Given the description of an element on the screen output the (x, y) to click on. 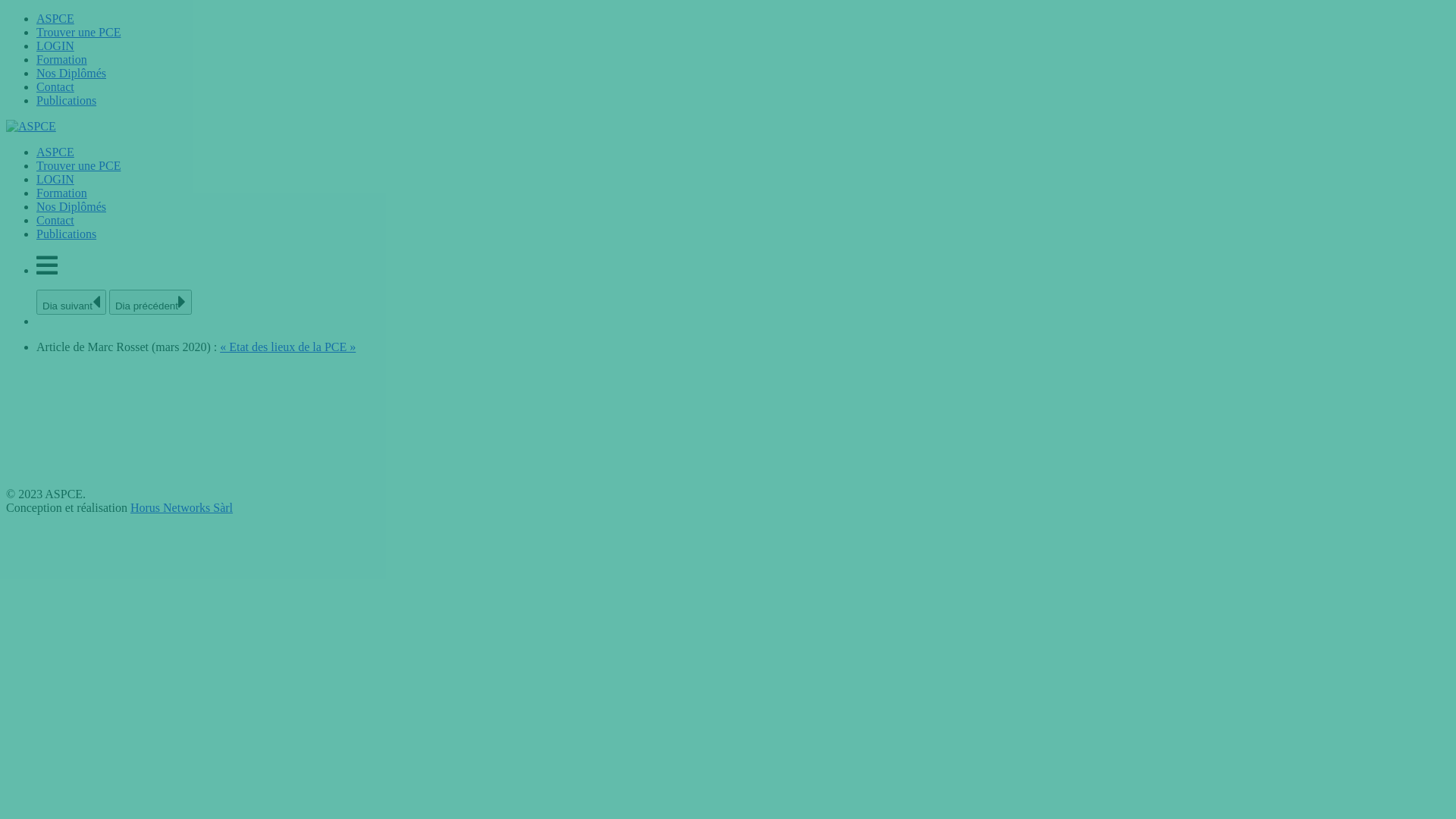
Contact Element type: text (55, 219)
Trouver une PCE Element type: text (78, 31)
Formation Element type: text (61, 192)
LOGIN Element type: text (55, 178)
Formation Element type: text (61, 59)
ASPCE Element type: text (55, 18)
Publications Element type: text (66, 233)
Trouver une PCE Element type: text (78, 165)
Dia suivant Element type: text (71, 301)
Publications Element type: text (66, 100)
LOGIN Element type: text (55, 45)
ASPCE Element type: text (55, 151)
Contact Element type: text (55, 86)
